Given the description of an element on the screen output the (x, y) to click on. 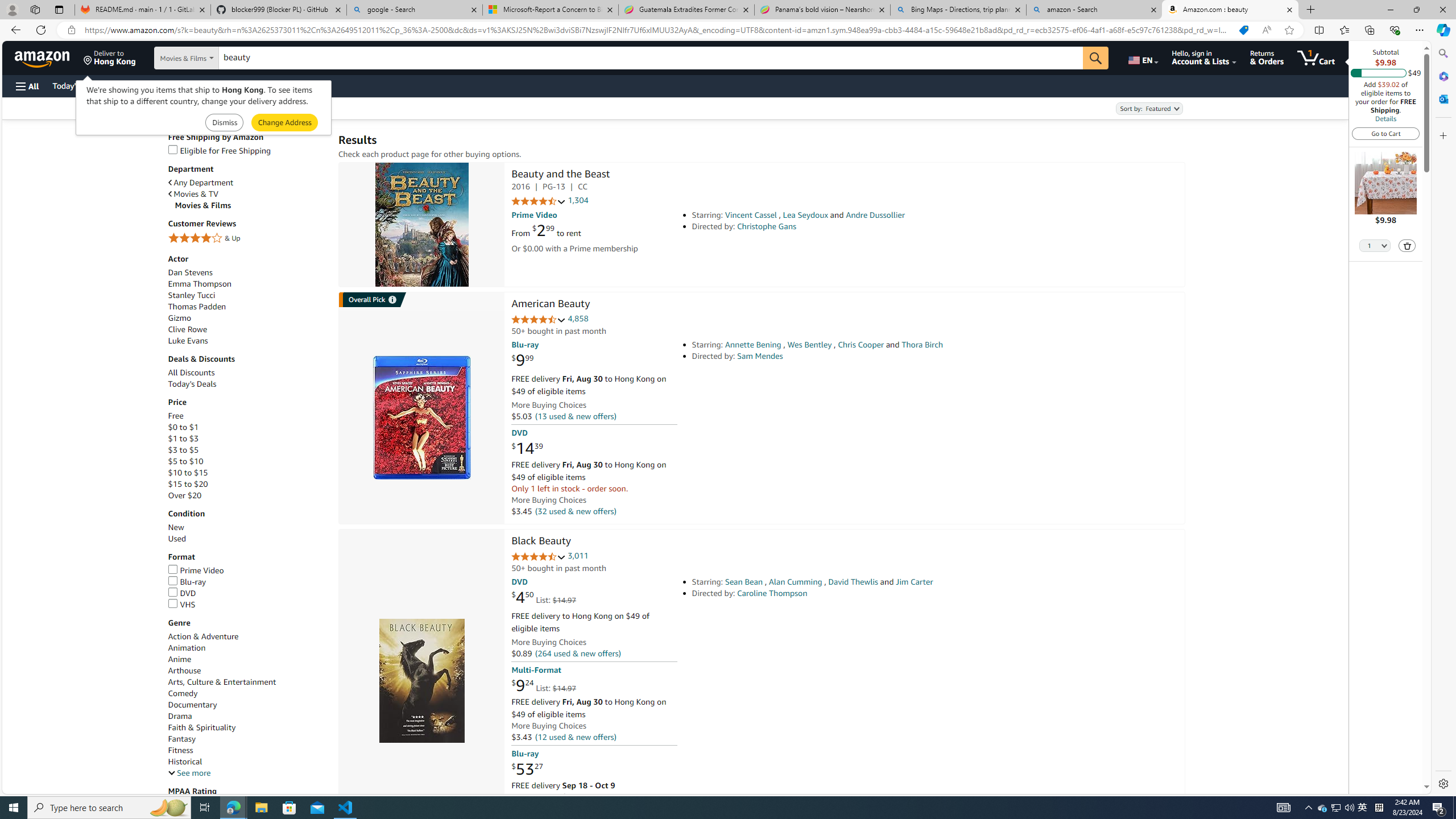
$5 to $10 (185, 461)
American Beauty (550, 304)
Fitness (247, 750)
4 Stars & Up& Up (247, 238)
Christophe Gans (766, 226)
Arts, Culture & Entertainment (221, 681)
Comedy (247, 693)
Starring: Vincent Cassel , Lea Seydoux and Andre Dussollier (850, 215)
Search Amazon (650, 57)
Go back to filtering menu (48, 788)
